Given the description of an element on the screen output the (x, y) to click on. 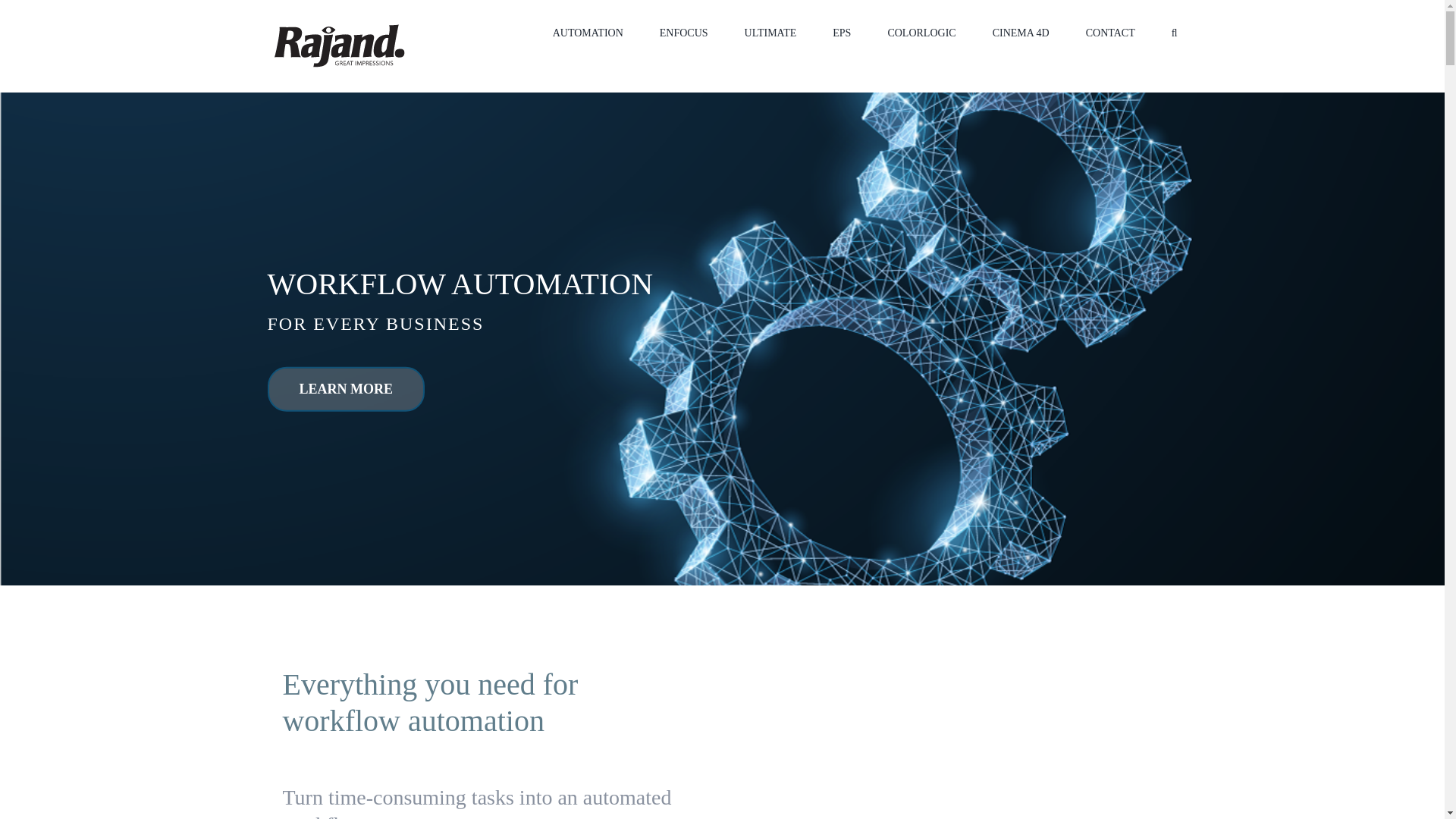
AUTOMATION (588, 31)
LEARN MORE (345, 388)
CINEMA 4D (1020, 31)
COLORLOGIC (920, 31)
